Given the description of an element on the screen output the (x, y) to click on. 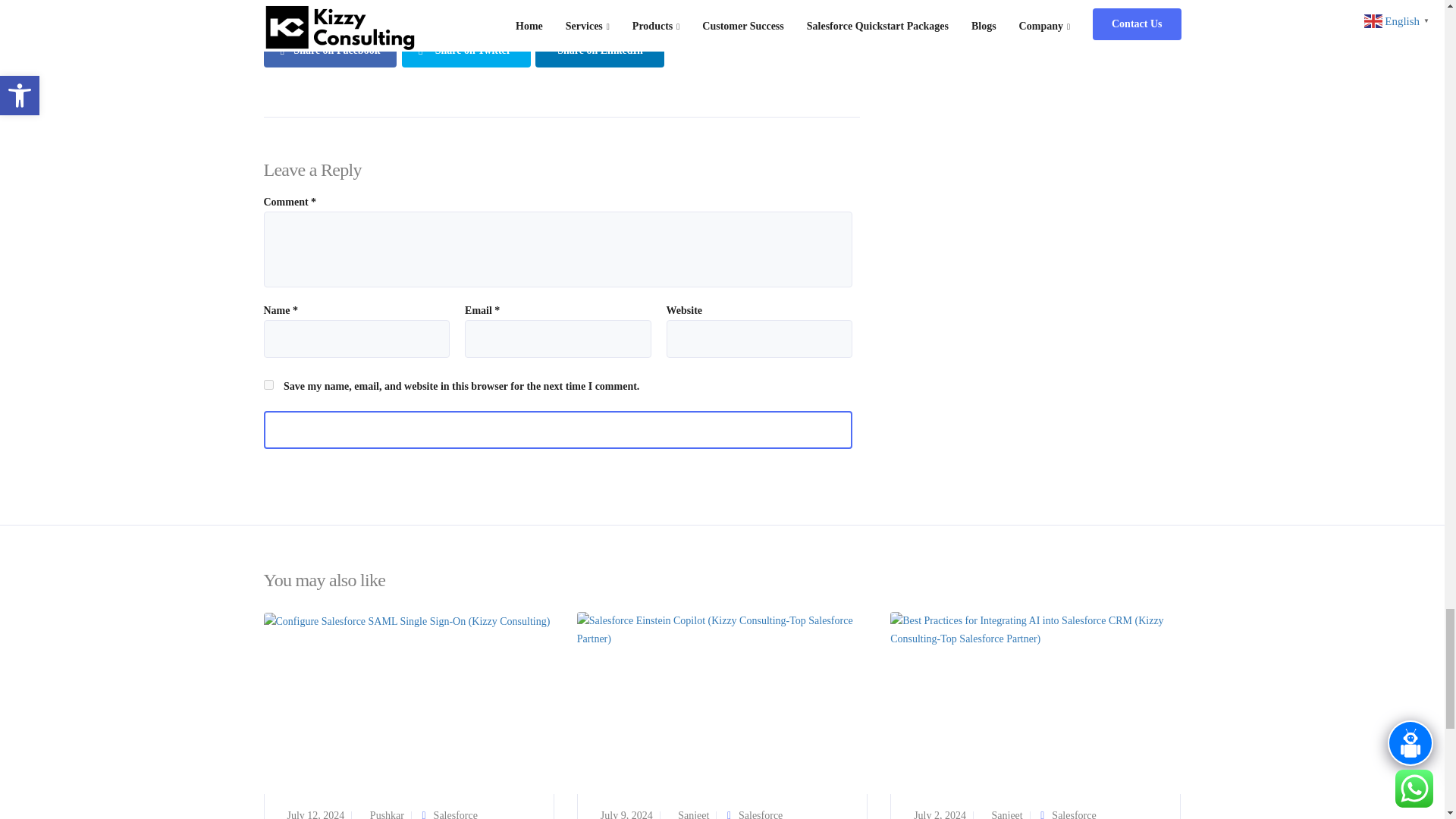
Post Comment (558, 429)
yes (268, 384)
